Given the description of an element on the screen output the (x, y) to click on. 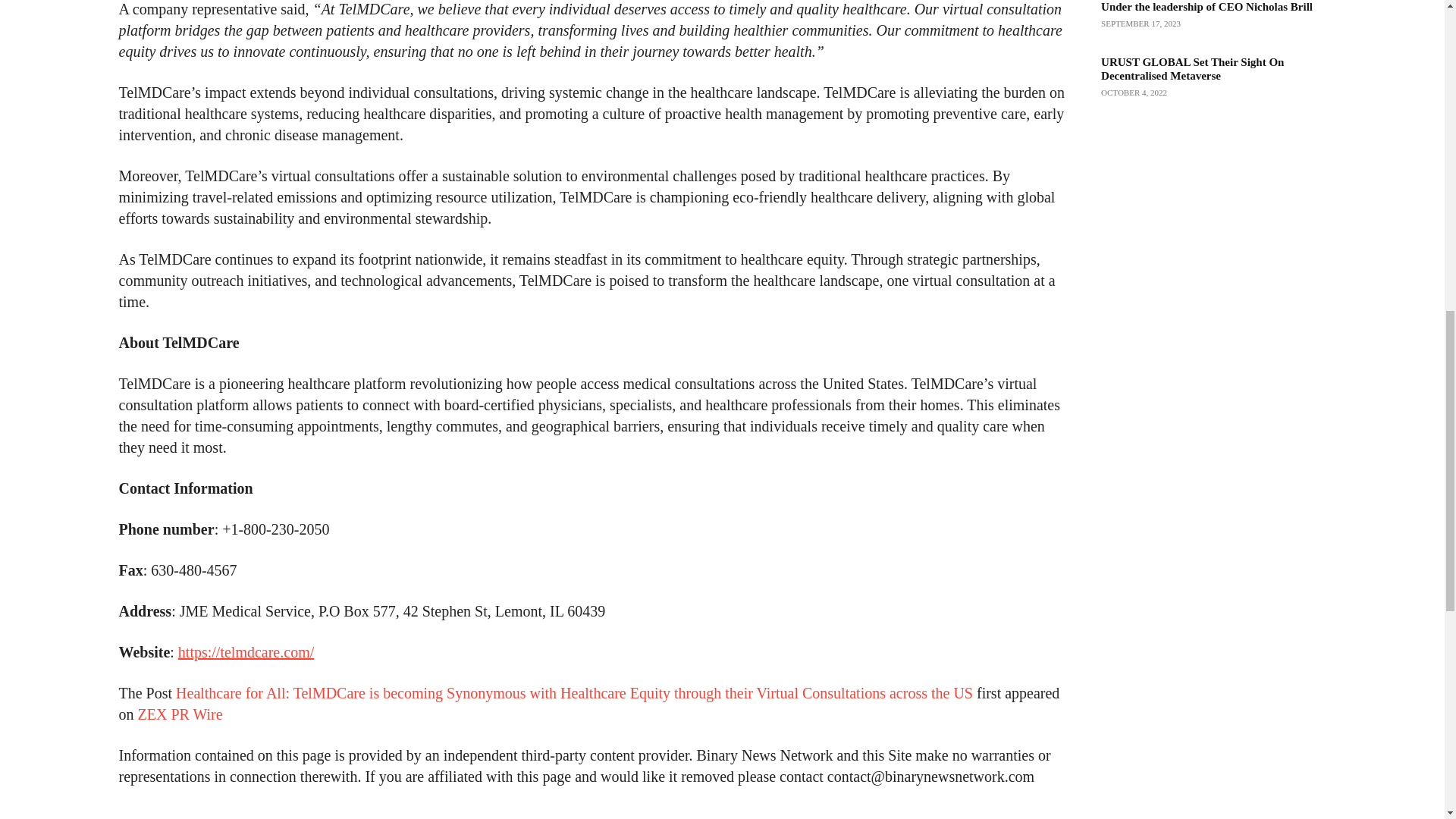
ZEX PR Wire (180, 713)
